Given the description of an element on the screen output the (x, y) to click on. 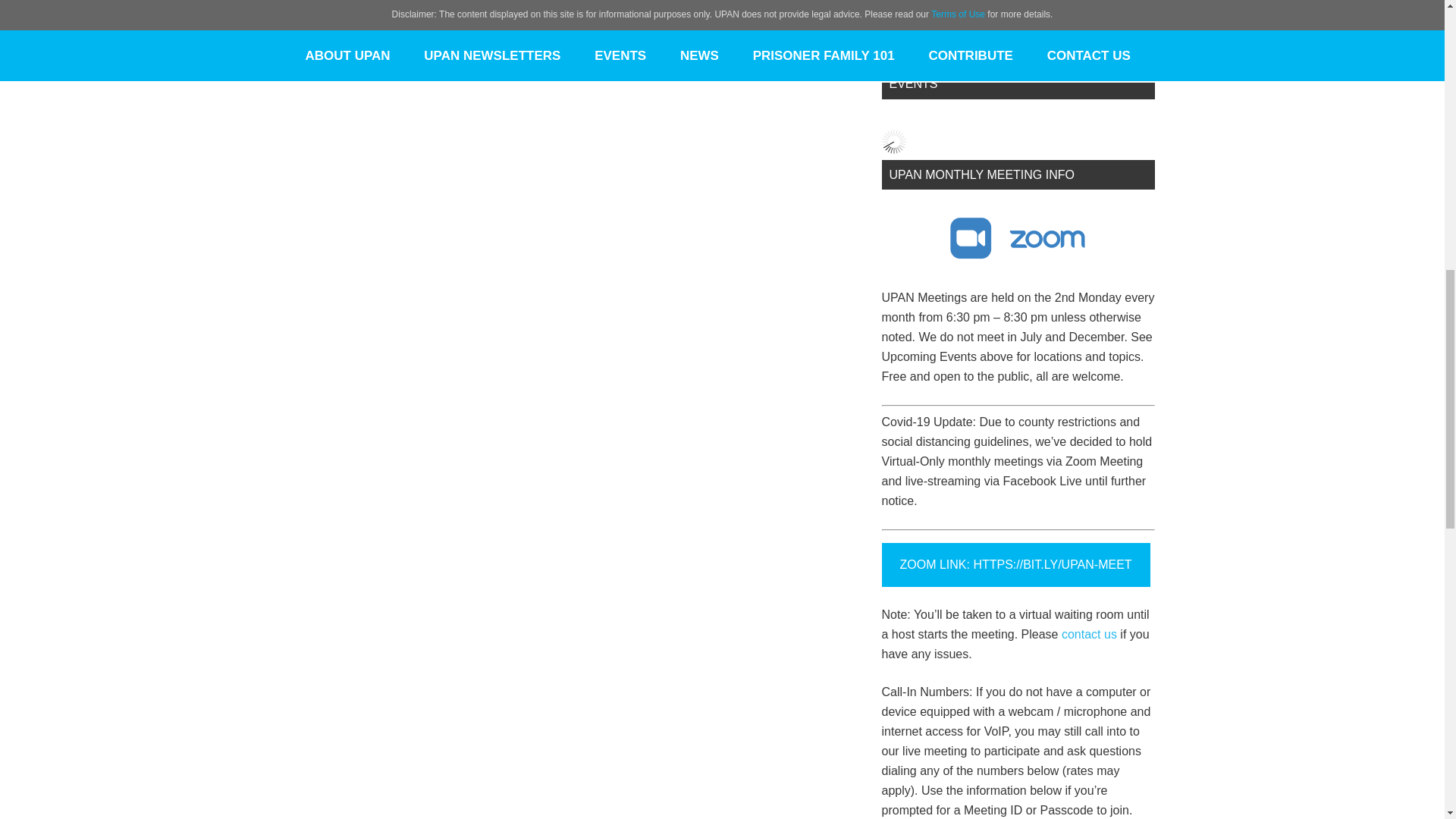
Subscribe (929, 20)
